Given the description of an element on the screen output the (x, y) to click on. 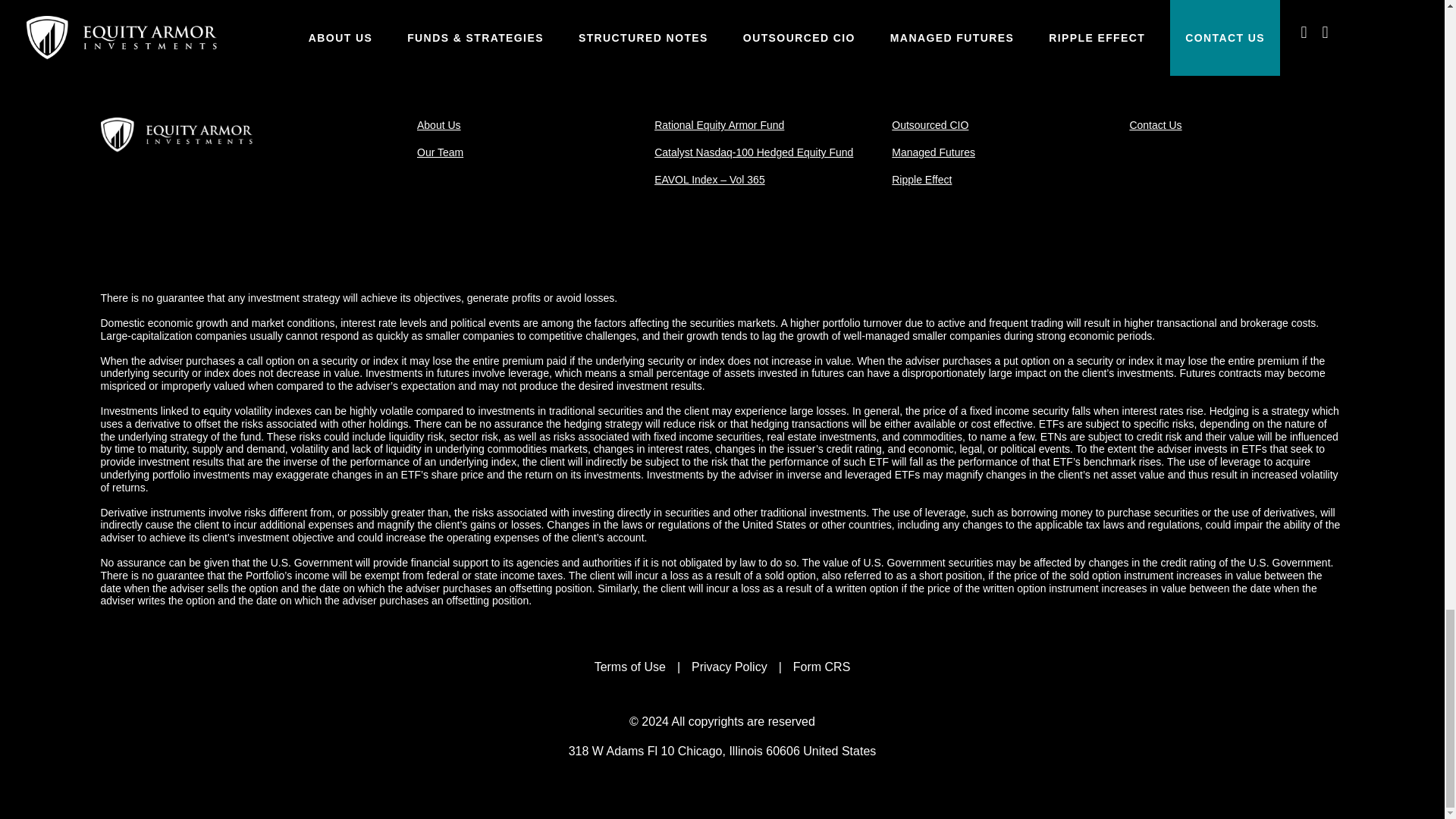
Our Team (439, 151)
Our Team (439, 151)
Catalyst Nasdaq-100 Hedged Equity Fund (753, 151)
Rational Equity Armor Fund (718, 124)
Catalyst Nasdaq-100 Hedged Equity Fund (753, 151)
About Us (438, 124)
About Us (438, 124)
Rational Equity Armor Fund (718, 124)
